Given the description of an element on the screen output the (x, y) to click on. 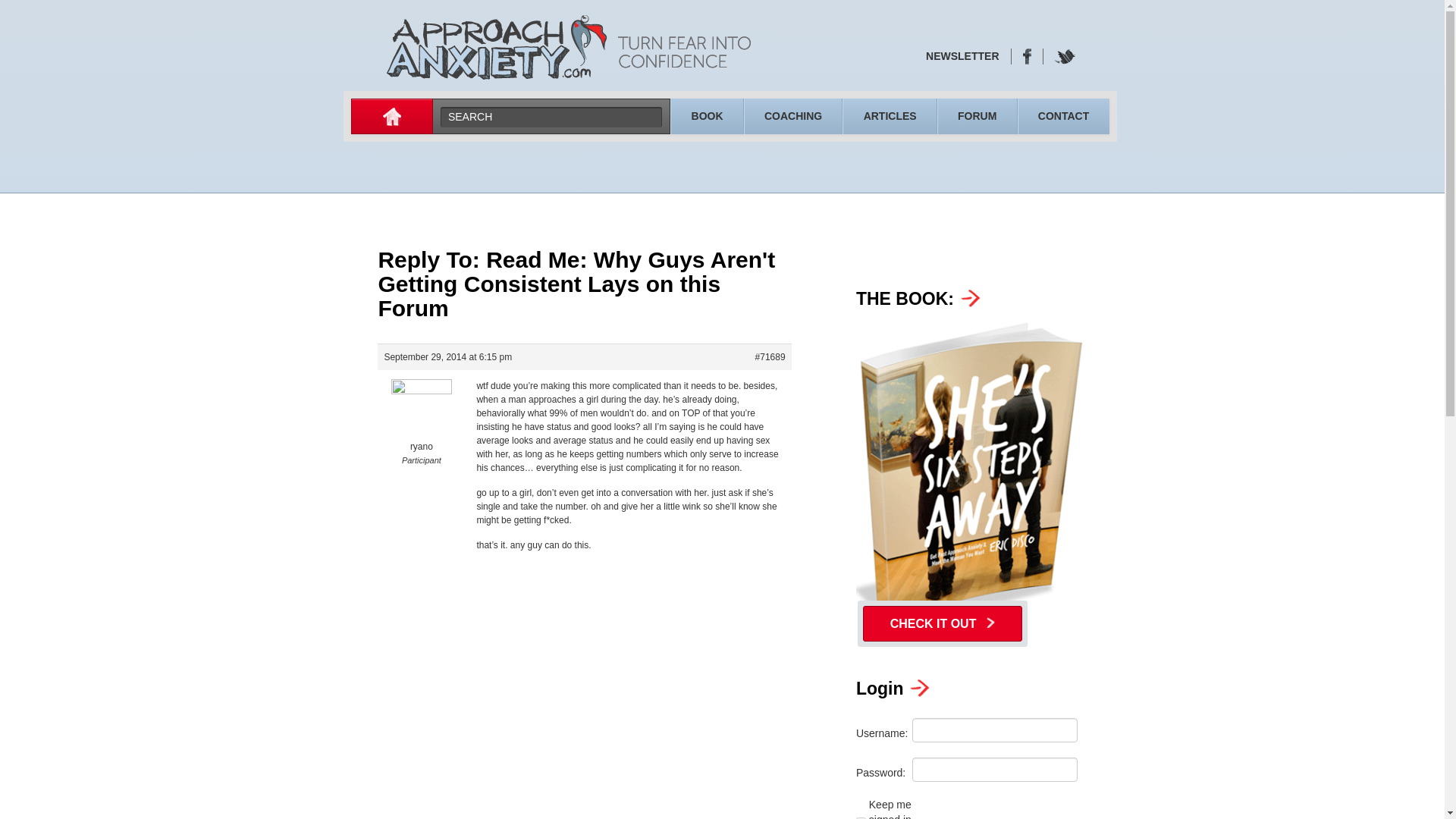
NEWSLETTER (962, 55)
CONTACT (1063, 115)
ryano (420, 425)
COACHING (793, 115)
CHECK IT OUT (942, 623)
View ryano's profile (420, 425)
BOOK (706, 115)
ARTICLES (889, 115)
FORUM (976, 115)
